Given the description of an element on the screen output the (x, y) to click on. 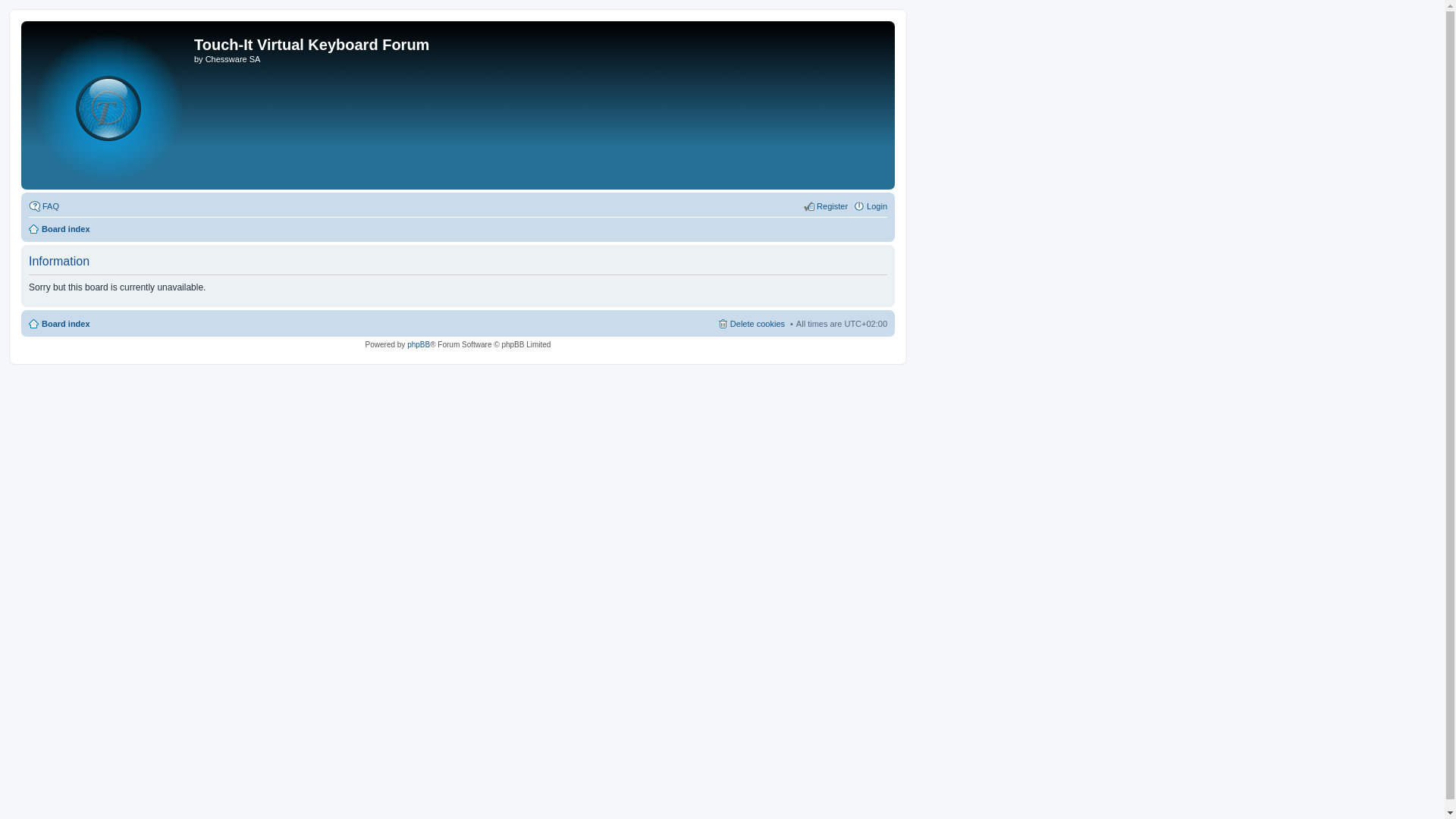
Login Element type: text (870, 206)
Board index Element type: text (59, 228)
phpBB Element type: text (418, 344)
Register Element type: text (825, 206)
Board index Element type: text (59, 323)
FAQ Element type: text (43, 206)
Board index Element type: hover (109, 105)
Delete cookies Element type: text (750, 323)
